Given the description of an element on the screen output the (x, y) to click on. 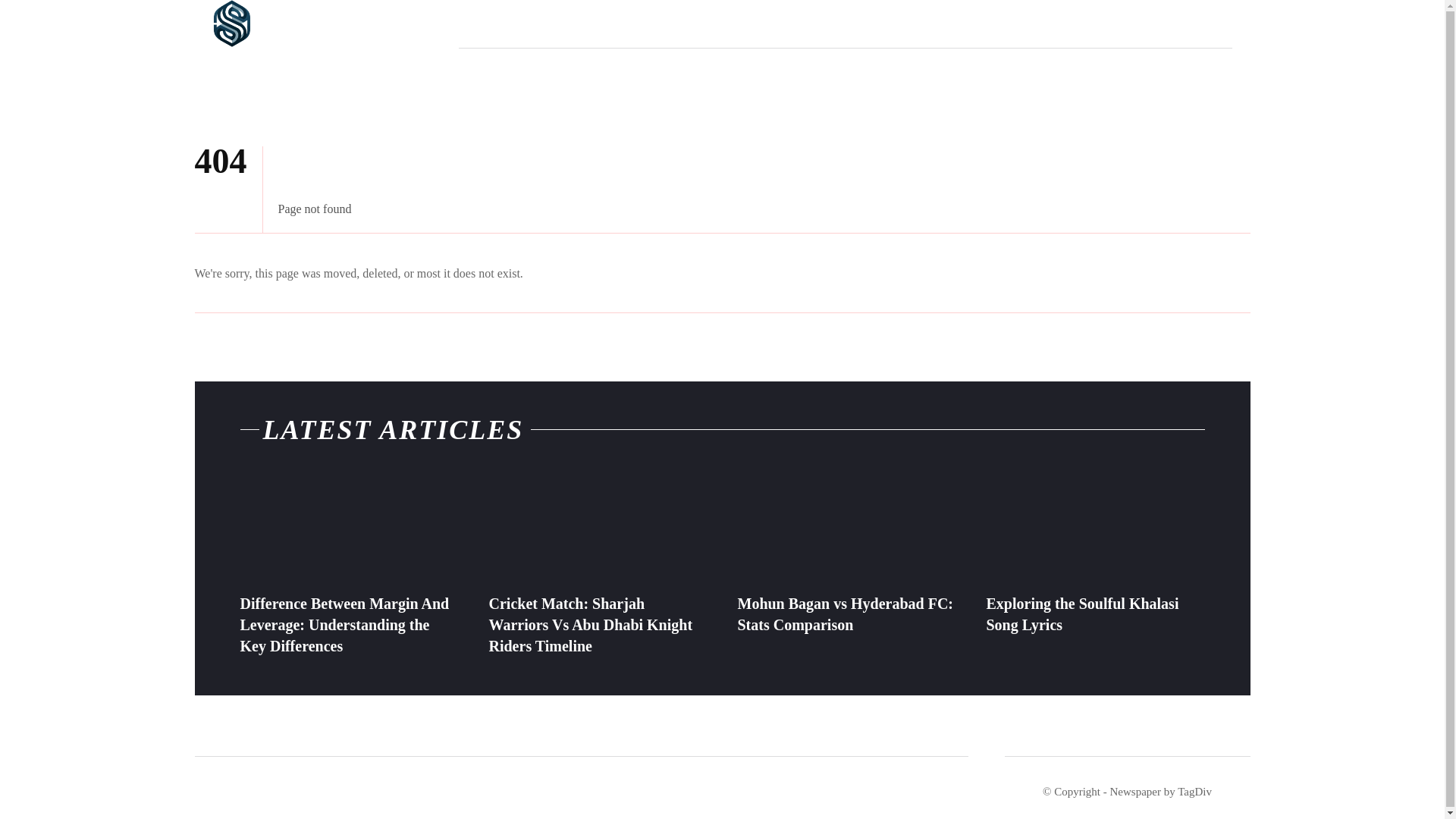
Mohun Bagan vs Hyderabad FC: Stats Comparison (845, 528)
Exploring the Soulful Khalasi Song Lyrics (1081, 614)
Mohun Bagan vs Hyderabad FC: Stats Comparison (844, 614)
Exploring the Soulful Khalasi Song Lyrics (1094, 528)
